Given the description of an element on the screen output the (x, y) to click on. 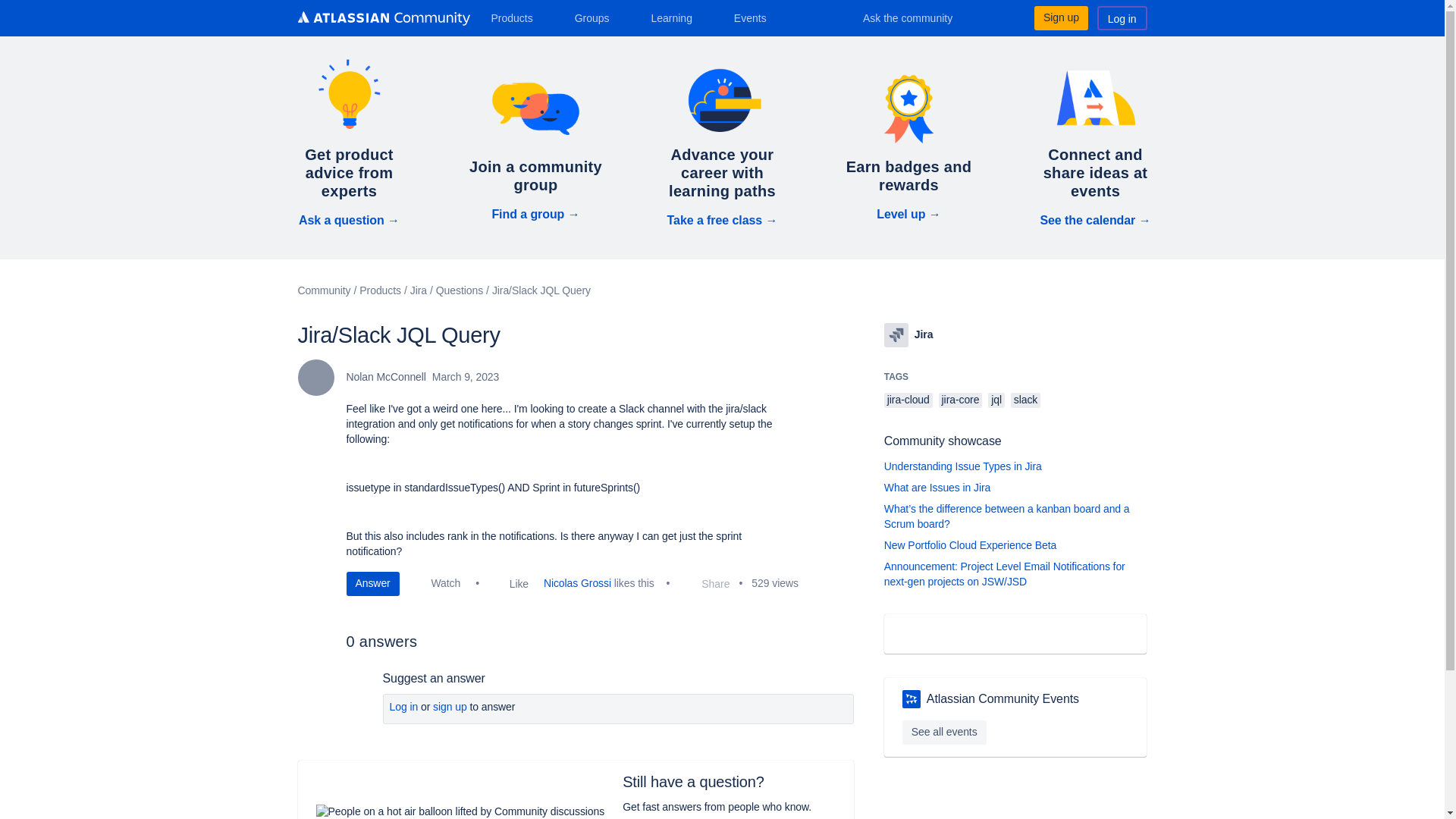
Atlassian Community logo (382, 18)
Groups (598, 17)
Nolan McConnell (315, 377)
Ask the community  (917, 17)
Jira (895, 334)
Events (756, 17)
Products (517, 17)
Atlassian Community logo (382, 19)
Log in (1122, 17)
Sign up (1060, 17)
